Given the description of an element on the screen output the (x, y) to click on. 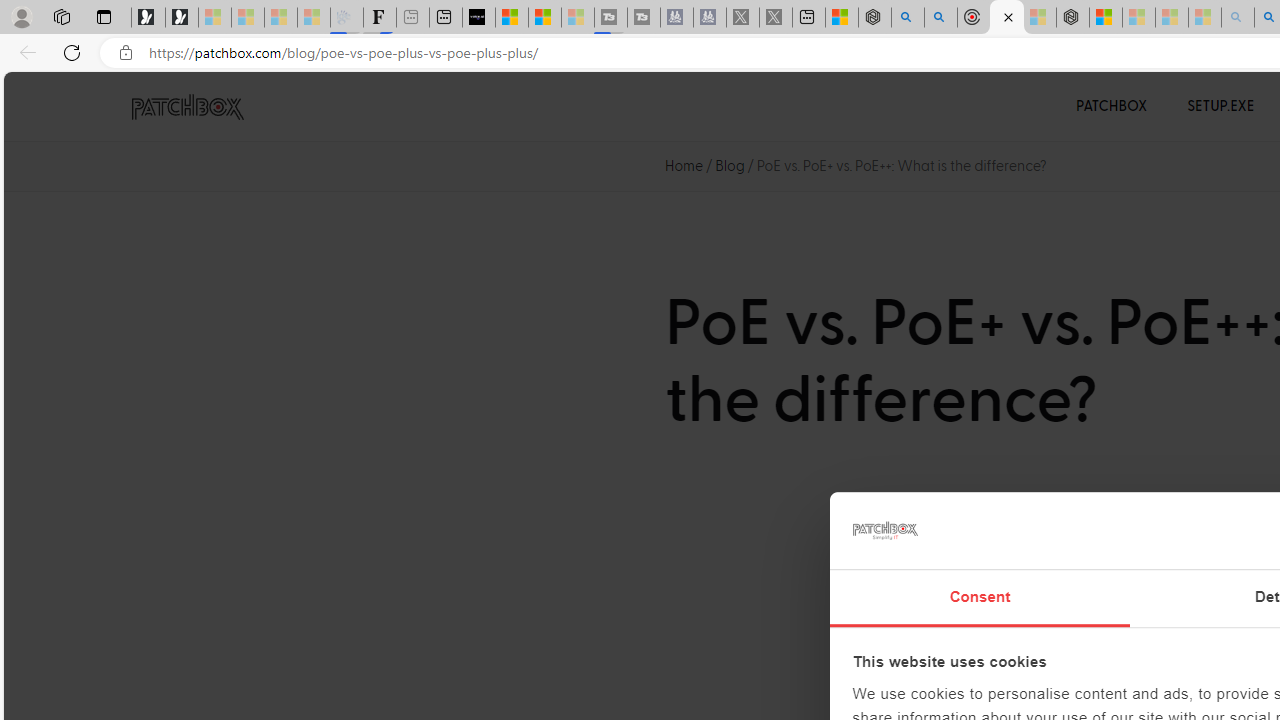
SETUP.EXE (1220, 106)
logo (884, 530)
SETUP.EXE (1220, 106)
Nordace - Nordace Siena Is Not An Ordinary Backpack (1073, 17)
